Given the description of an element on the screen output the (x, y) to click on. 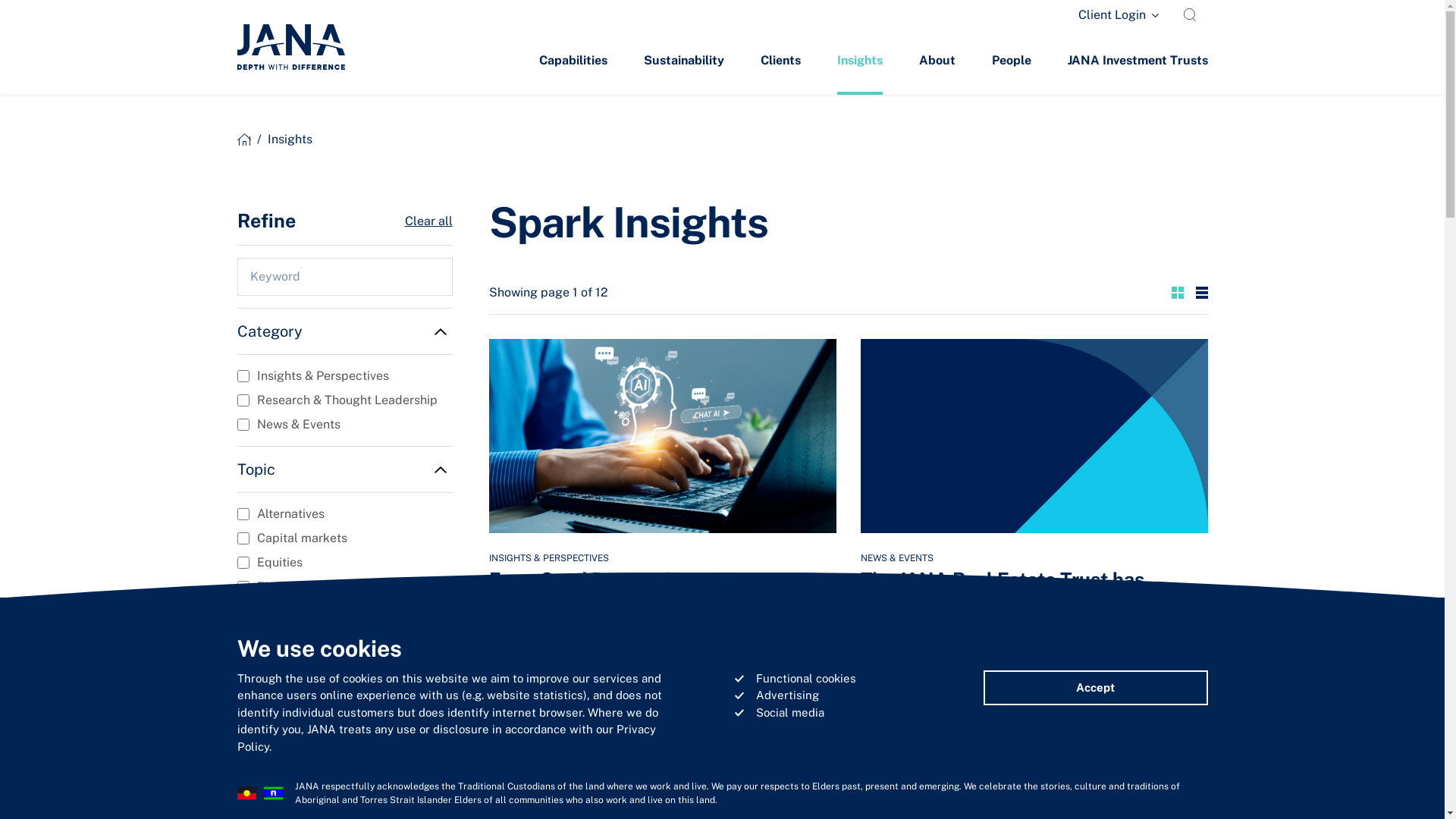
About Element type: text (937, 62)
JANA Investment Trusts Element type: text (1137, 62)
Property Element type: text (949, 750)
NEWS & EVENTS Element type: text (895, 557)
INSIGHTS & PERSPECTIVES Element type: text (548, 557)
Sustainability Element type: text (683, 62)
Insights Element type: text (859, 62)
People Element type: text (1011, 62)
Capabilities Element type: text (572, 62)
Clients Element type: text (779, 62)
Accept Element type: text (1094, 688)
Clear all Element type: text (428, 221)
Client Login Element type: text (1118, 15)
